Given the description of an element on the screen output the (x, y) to click on. 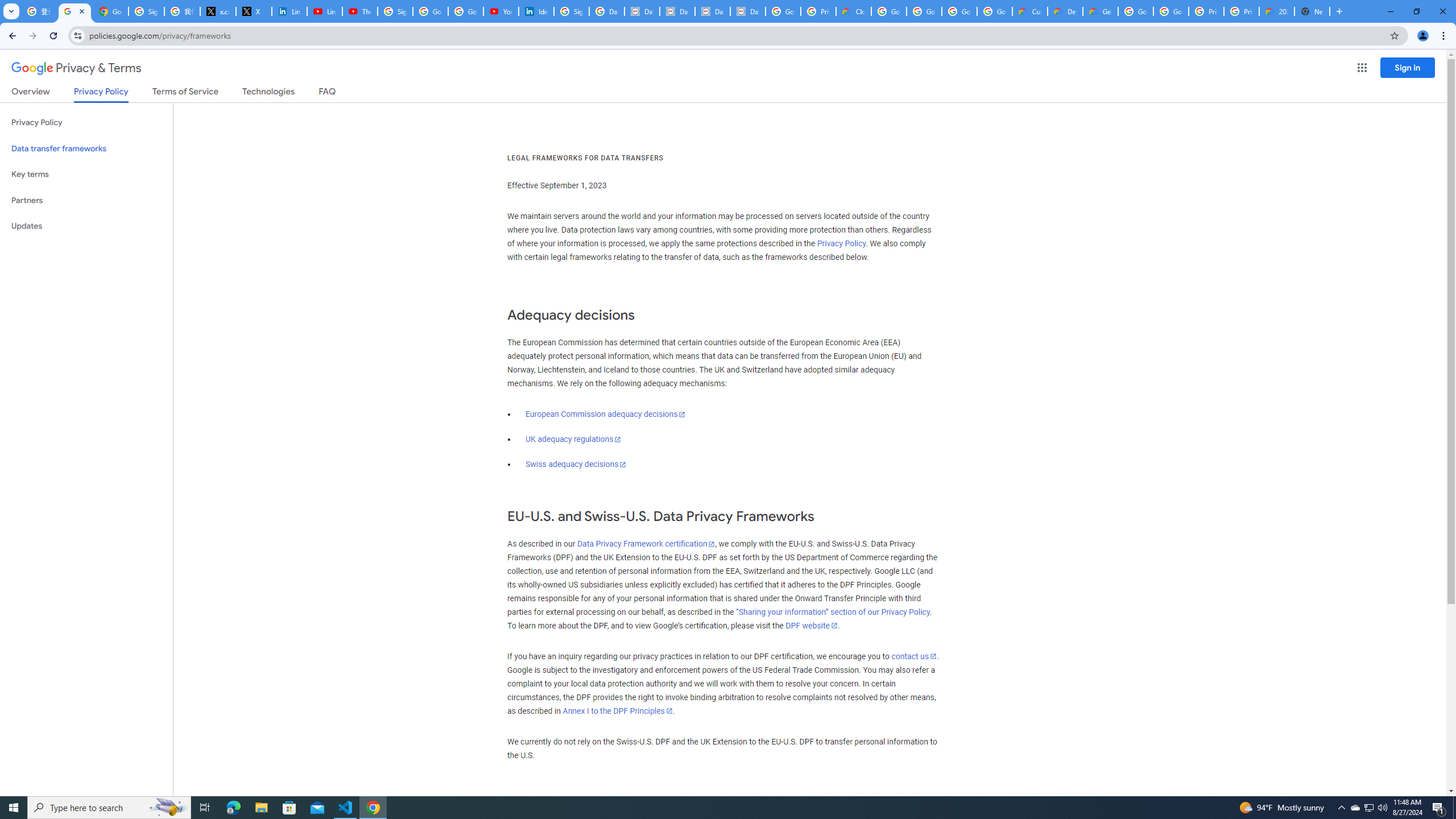
X (253, 11)
Cloud Data Processing Addendum | Google Cloud (853, 11)
European Commission adequacy decisions (605, 414)
LinkedIn Privacy Policy (288, 11)
